Given the description of an element on the screen output the (x, y) to click on. 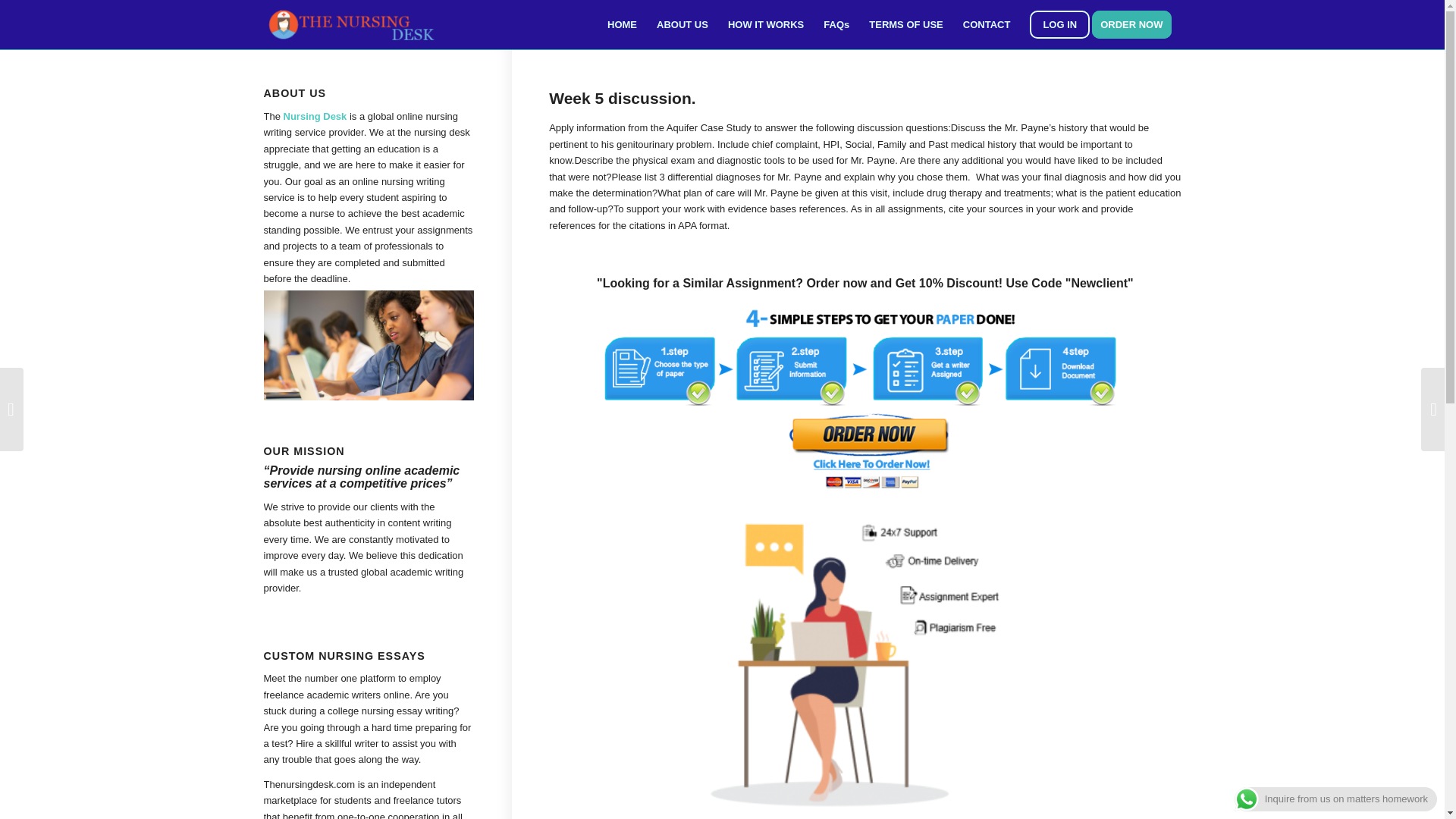
FAQs (836, 24)
ABOUT US (681, 24)
ORDER NOW (1136, 24)
Thenursingdesk.com (309, 784)
Permanent Link: Week 5 discussion. (621, 98)
TERMS OF USE (906, 24)
CONTACT (986, 24)
LOG IN (1059, 24)
HOME (621, 24)
Week 5 discussion. (621, 98)
HOW IT WORKS (765, 24)
